Given the description of an element on the screen output the (x, y) to click on. 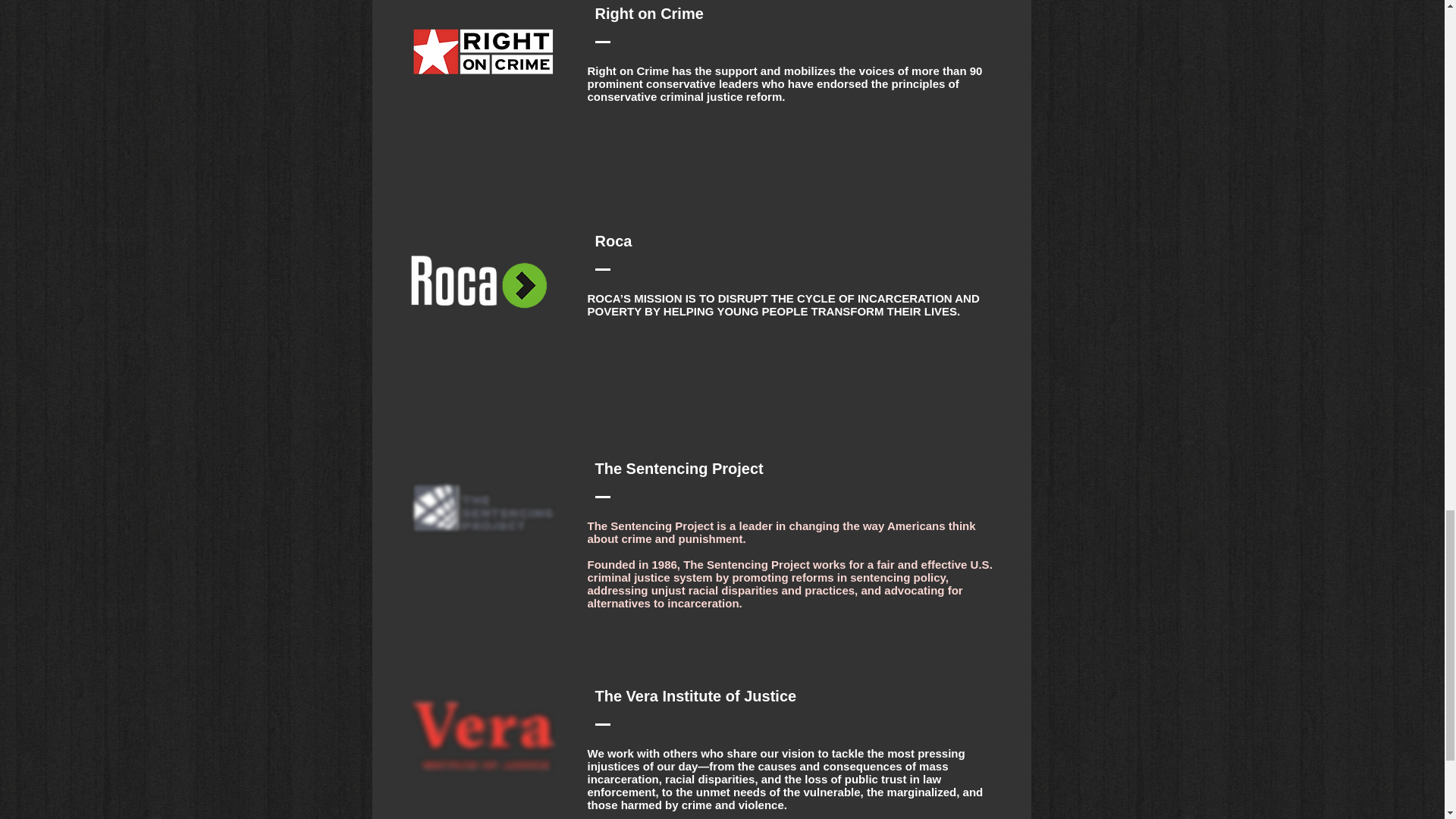
90 prominent conservative leaders (783, 77)
principles of conservative criminal justice reform. (772, 89)
